Given the description of an element on the screen output the (x, y) to click on. 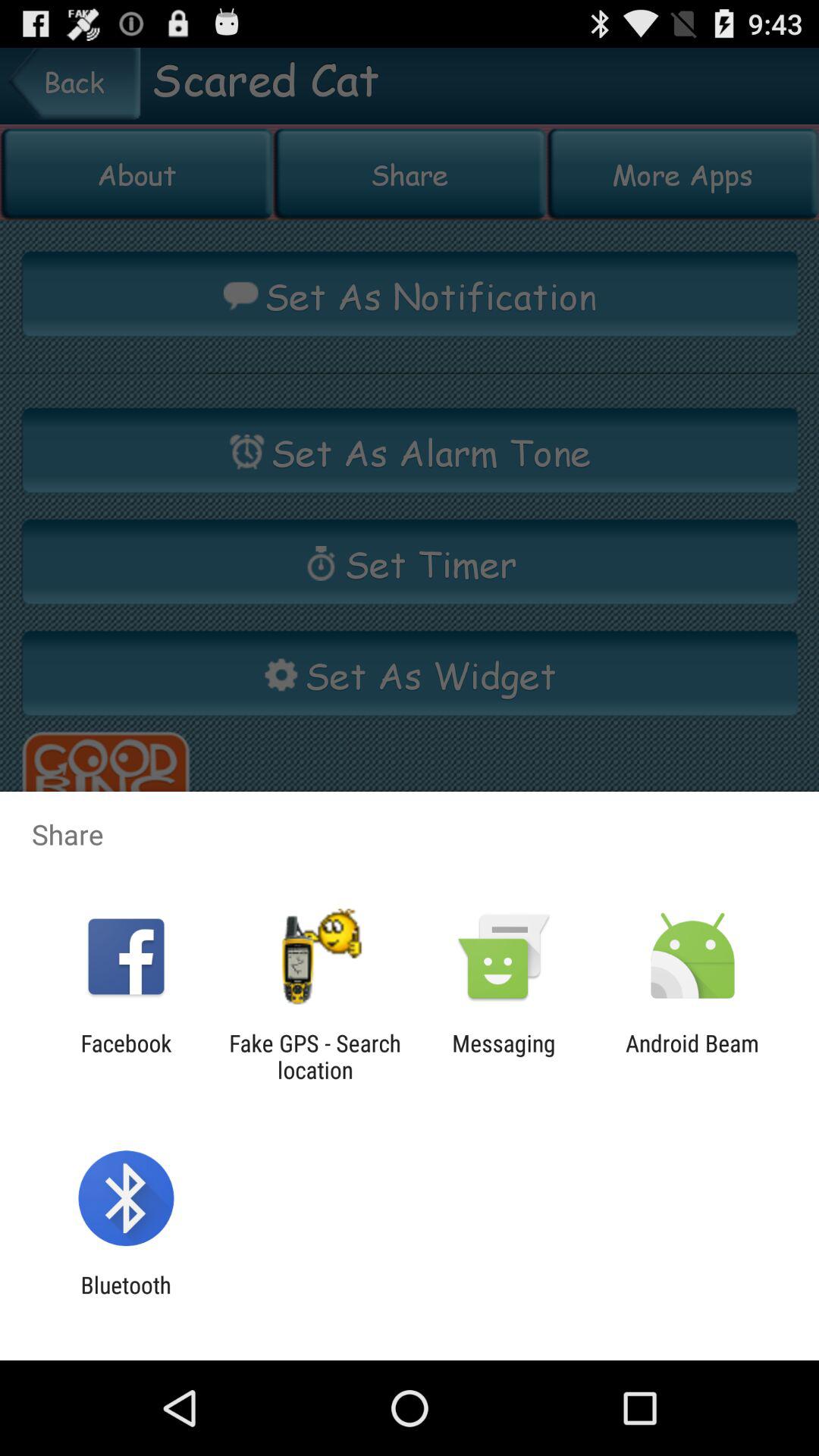
press fake gps search item (314, 1056)
